Given the description of an element on the screen output the (x, y) to click on. 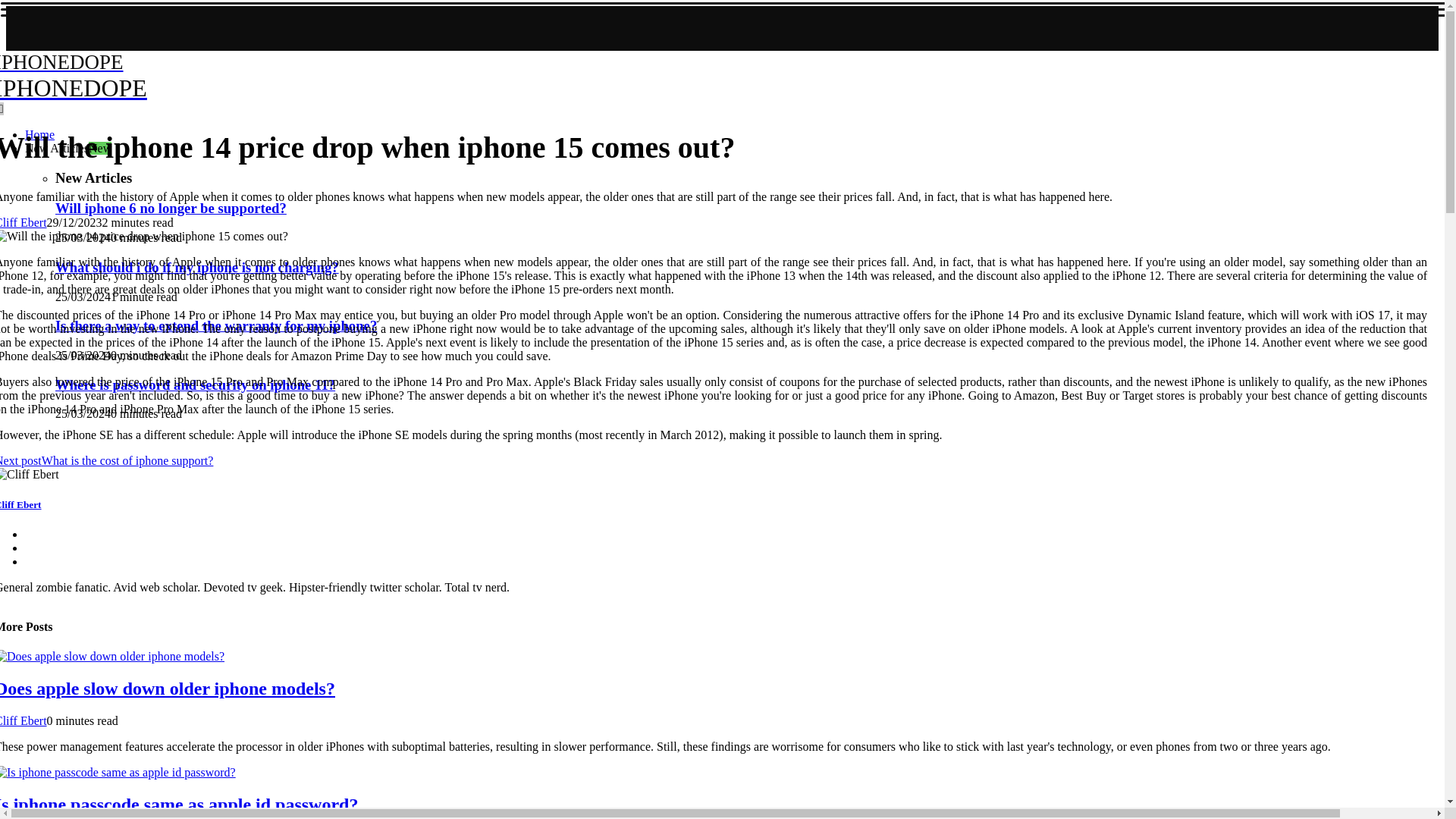
Cliff Ebert (312, 276)
Will Iphone Last 5 Years? (1039, 185)
How Long Can An Iphone 11 Be Wet? (1047, 249)
Will Iphone 13 Price Drop When Iphone 15 Comes Out? (1049, 406)
Posts by Cliff Ebert (534, 62)
Does Iphone 11 Support Ios 17? (312, 276)
